Given the description of an element on the screen output the (x, y) to click on. 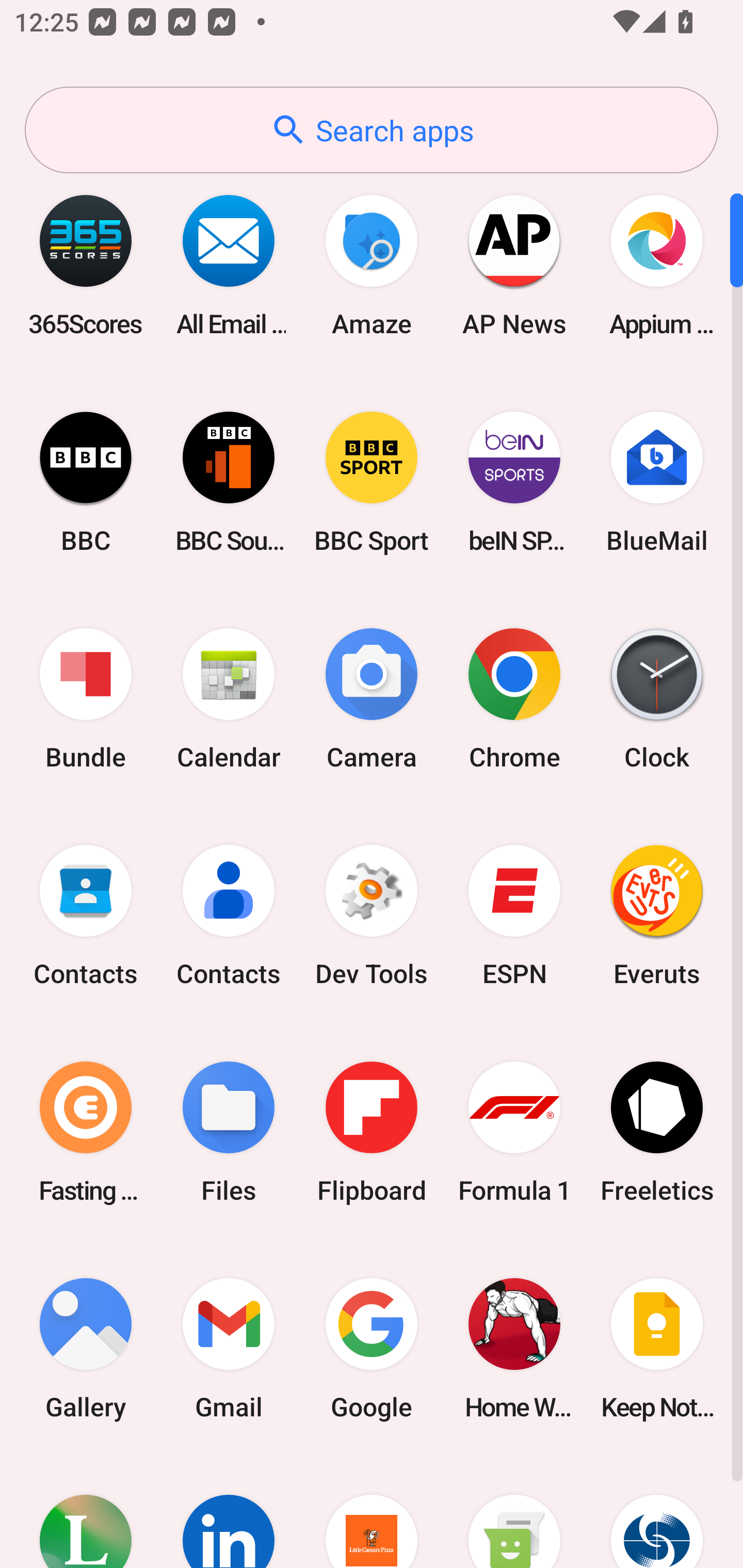
  Search apps (371, 130)
365Scores (85, 264)
All Email Connect (228, 264)
Amaze (371, 264)
AP News (514, 264)
Appium Settings (656, 264)
BBC (85, 482)
BBC Sounds (228, 482)
BBC Sport (371, 482)
beIN SPORTS (514, 482)
BlueMail (656, 482)
Bundle (85, 699)
Calendar (228, 699)
Camera (371, 699)
Chrome (514, 699)
Clock (656, 699)
Contacts (85, 915)
Contacts (228, 915)
Dev Tools (371, 915)
ESPN (514, 915)
Everuts (656, 915)
Fasting Coach (85, 1131)
Files (228, 1131)
Flipboard (371, 1131)
Formula 1 (514, 1131)
Freeletics (656, 1131)
Gallery (85, 1348)
Gmail (228, 1348)
Google (371, 1348)
Home Workout (514, 1348)
Keep Notes (656, 1348)
Lifesum (85, 1512)
LinkedIn (228, 1512)
Little Caesars Pizza (371, 1512)
Messaging (514, 1512)
MyObservatory (656, 1512)
